Given the description of an element on the screen output the (x, y) to click on. 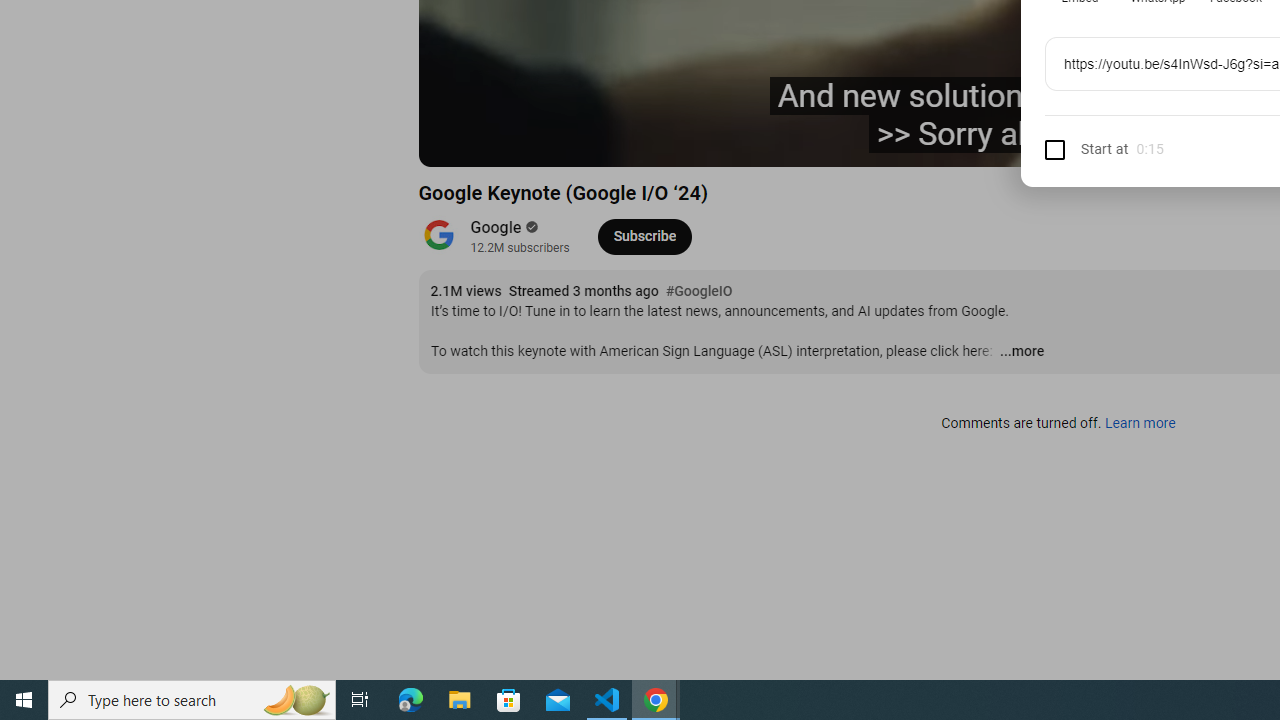
Learn more (1139, 423)
...more (1021, 352)
Previous (SHIFT+p) (456, 142)
Next (SHIFT+n) (546, 142)
Play (k) (502, 142)
Mute (m) (594, 142)
#GoogleIO (699, 291)
Opening Film (763, 142)
Subscribe to Google. (644, 236)
Verified (530, 227)
Start at (1086, 148)
